Given the description of an element on the screen output the (x, y) to click on. 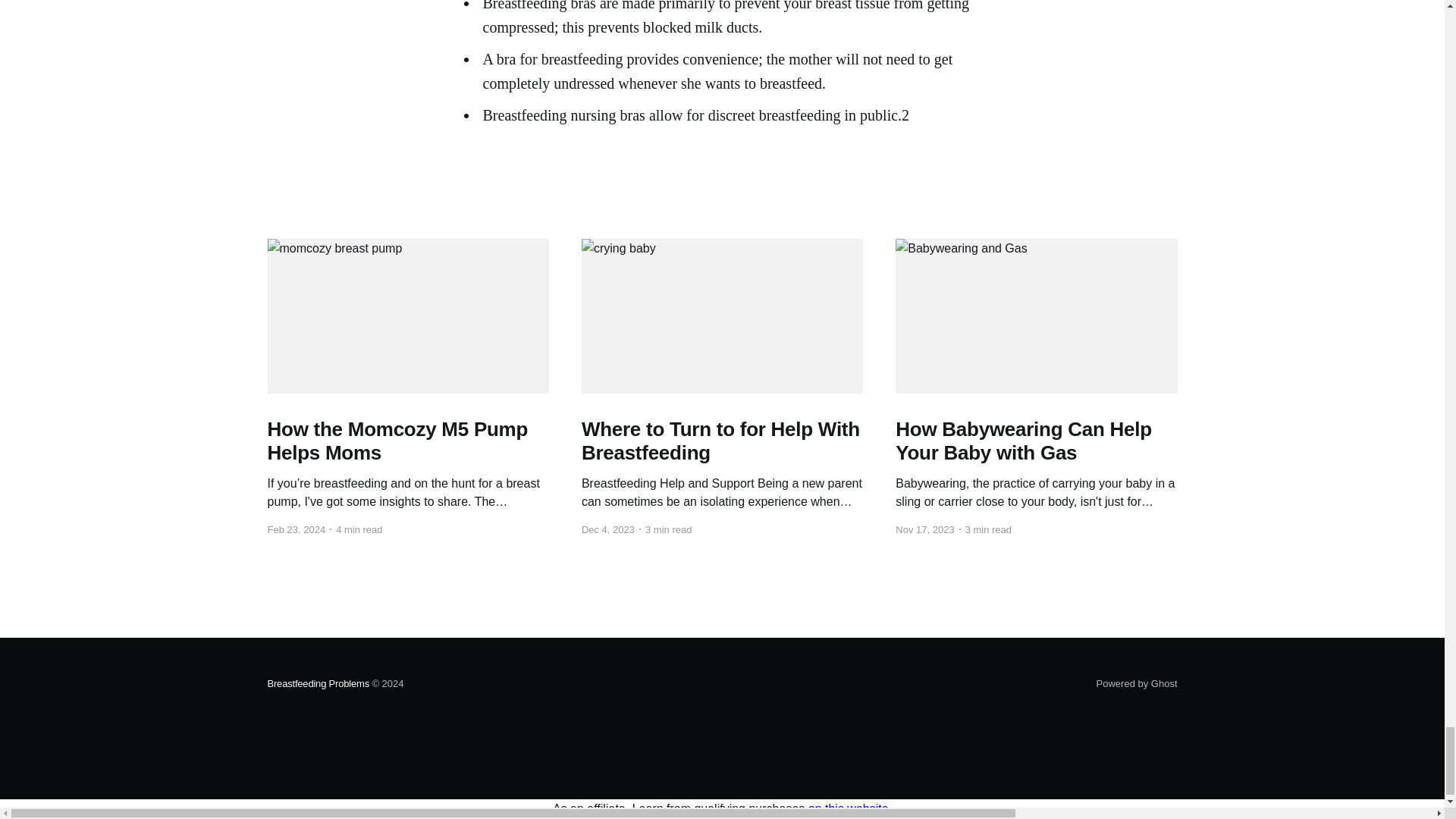
Powered by Ghost (1136, 683)
Breastfeeding Problems (318, 683)
on this website (848, 808)
